Given the description of an element on the screen output the (x, y) to click on. 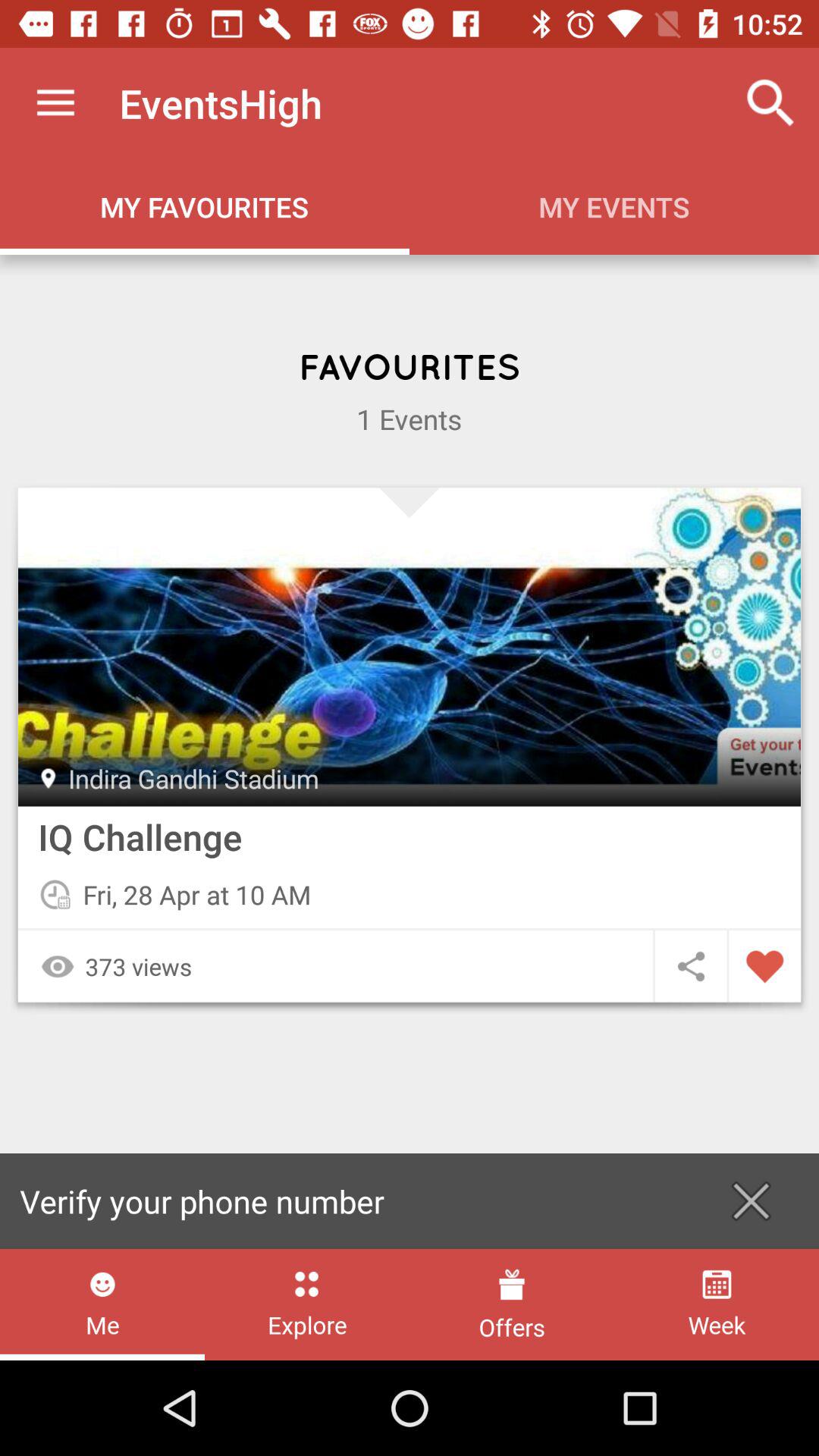
click the icon next to offers icon (306, 1304)
